Given the description of an element on the screen output the (x, y) to click on. 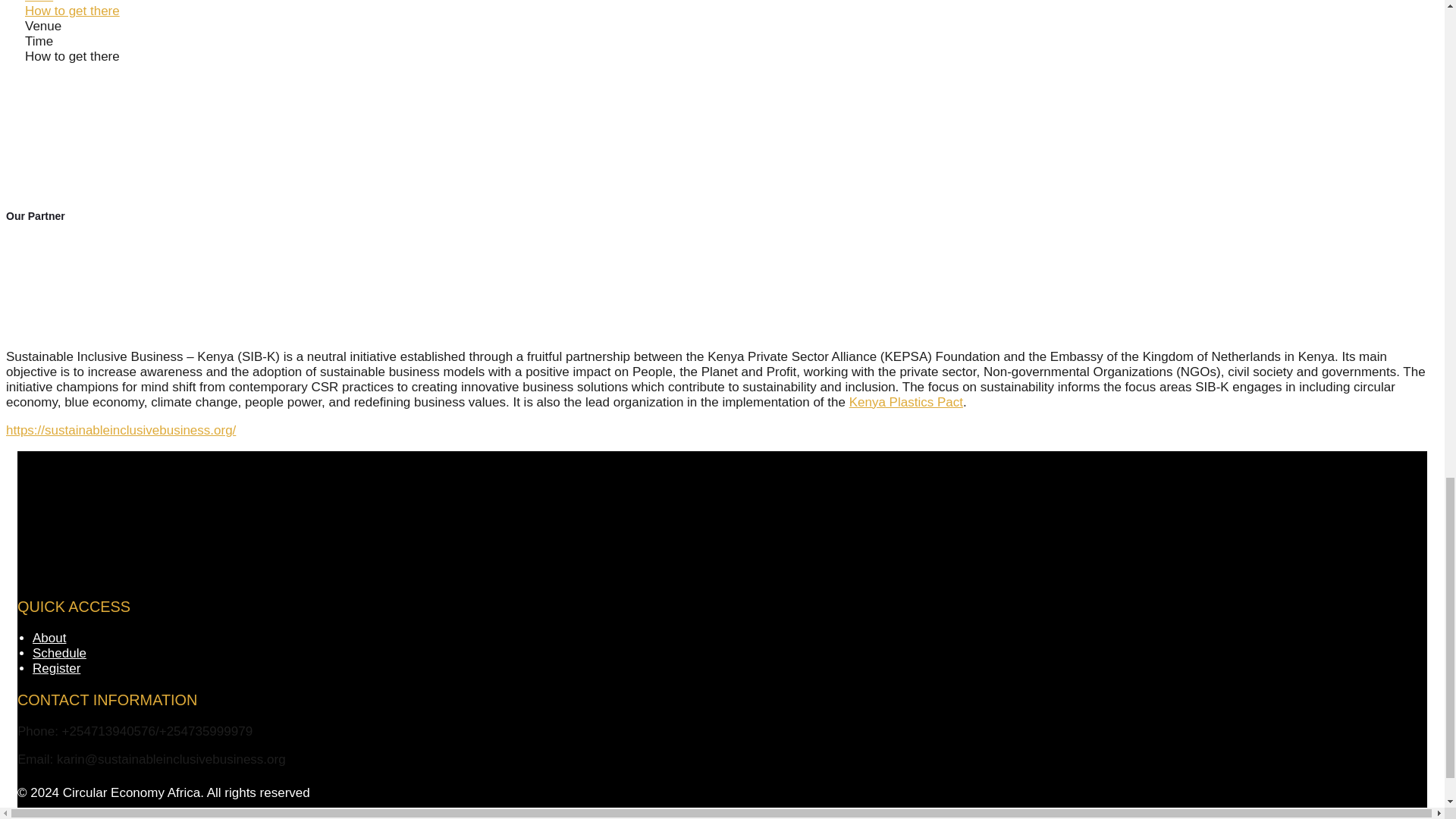
Register (56, 667)
How to get there (71, 11)
Kenya Plastics Pact (905, 401)
haile selassie avenue (137, 121)
About (48, 637)
Schedule (58, 653)
Time (38, 1)
